Given the description of an element on the screen output the (x, y) to click on. 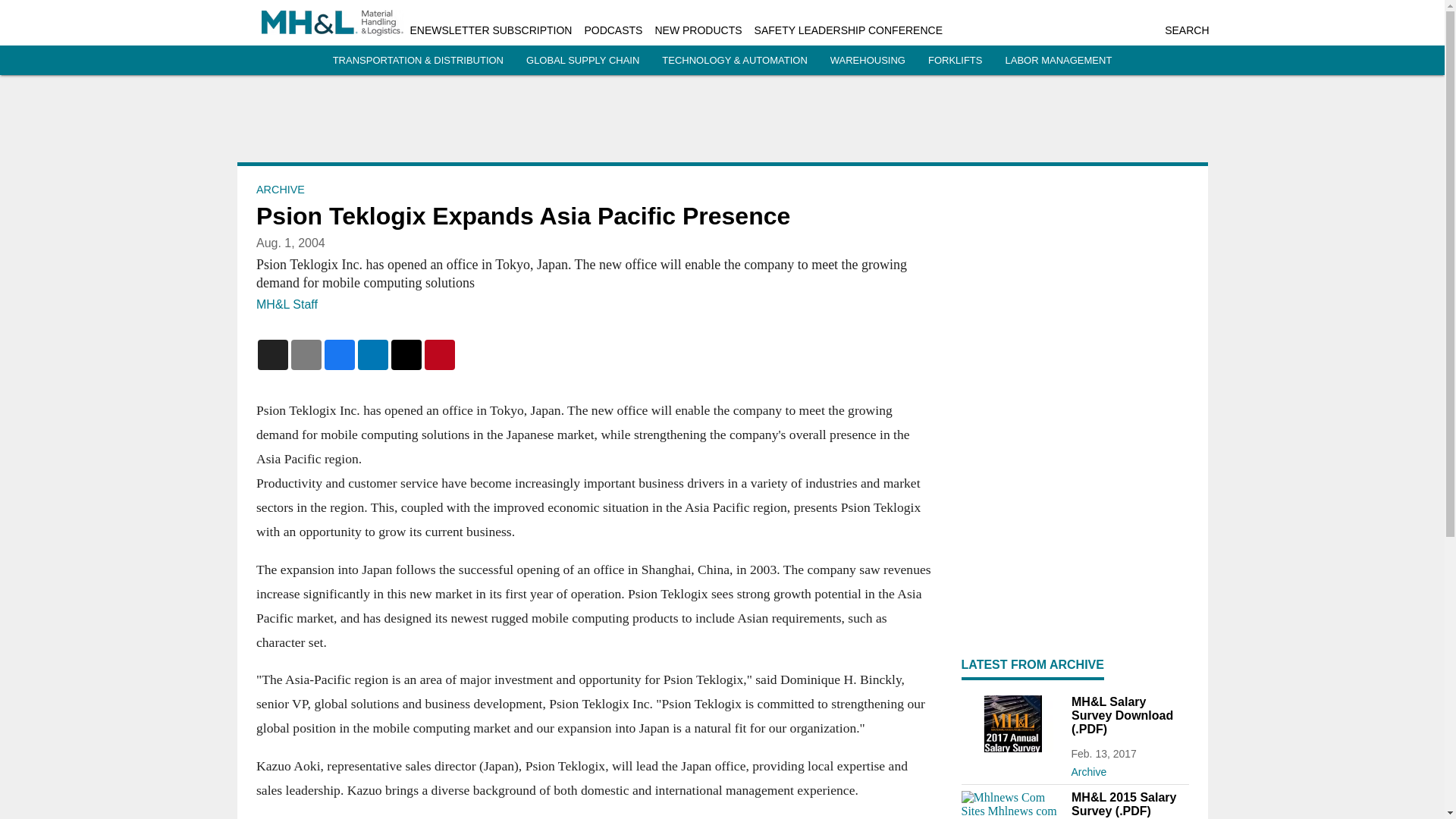
GLOBAL SUPPLY CHAIN (582, 60)
Archive (1129, 769)
ARCHIVE (280, 189)
WAREHOUSING (867, 60)
SEARCH (1186, 30)
PODCASTS (612, 30)
FORKLIFTS (955, 60)
SAFETY LEADERSHIP CONFERENCE (848, 30)
ENEWSLETTER SUBSCRIPTION (490, 30)
NEW PRODUCTS (697, 30)
LABOR MANAGEMENT (1058, 60)
